Given the description of an element on the screen output the (x, y) to click on. 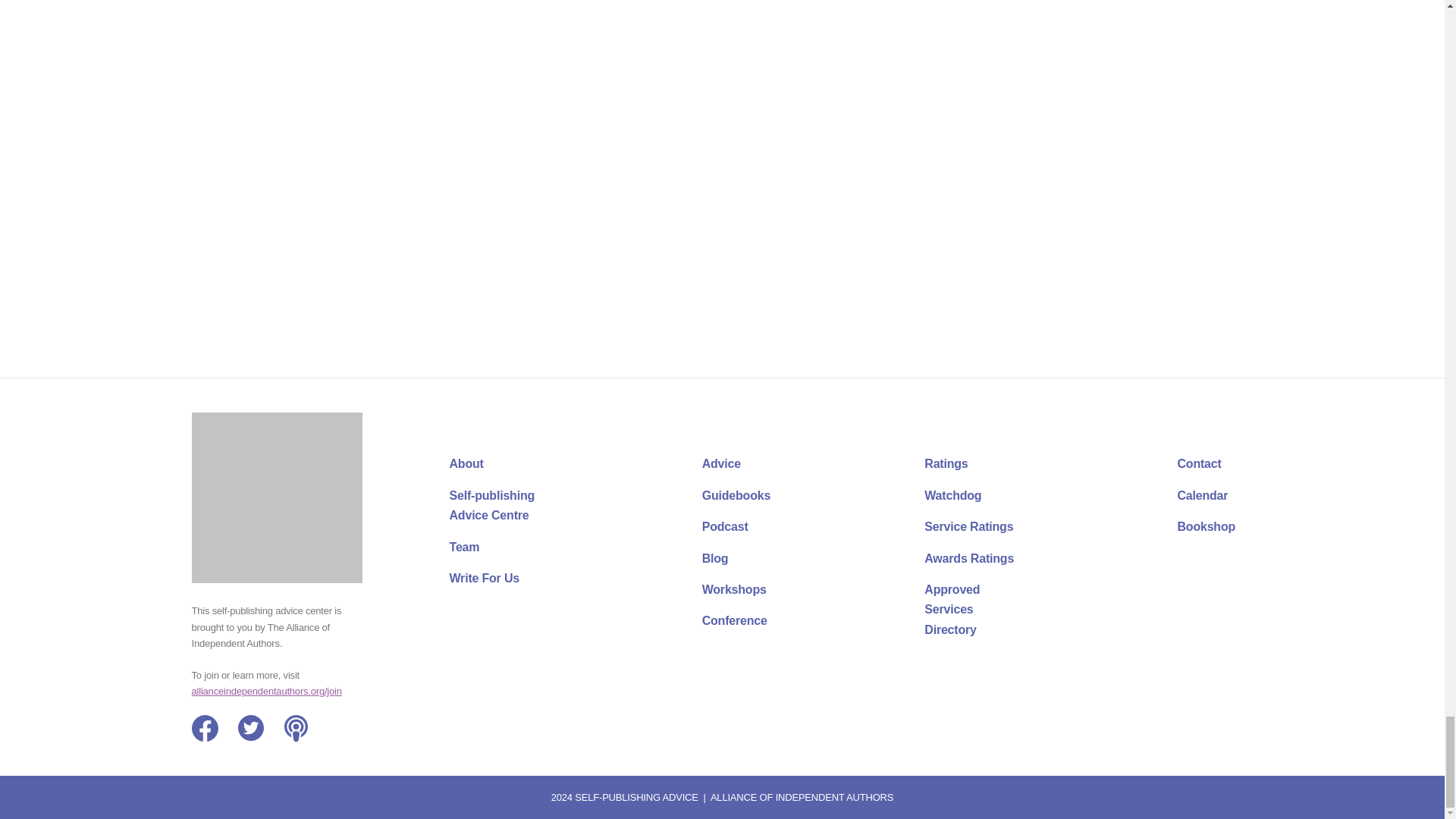
Twitter (251, 728)
Facebook (203, 728)
Podcast (296, 728)
